Given the description of an element on the screen output the (x, y) to click on. 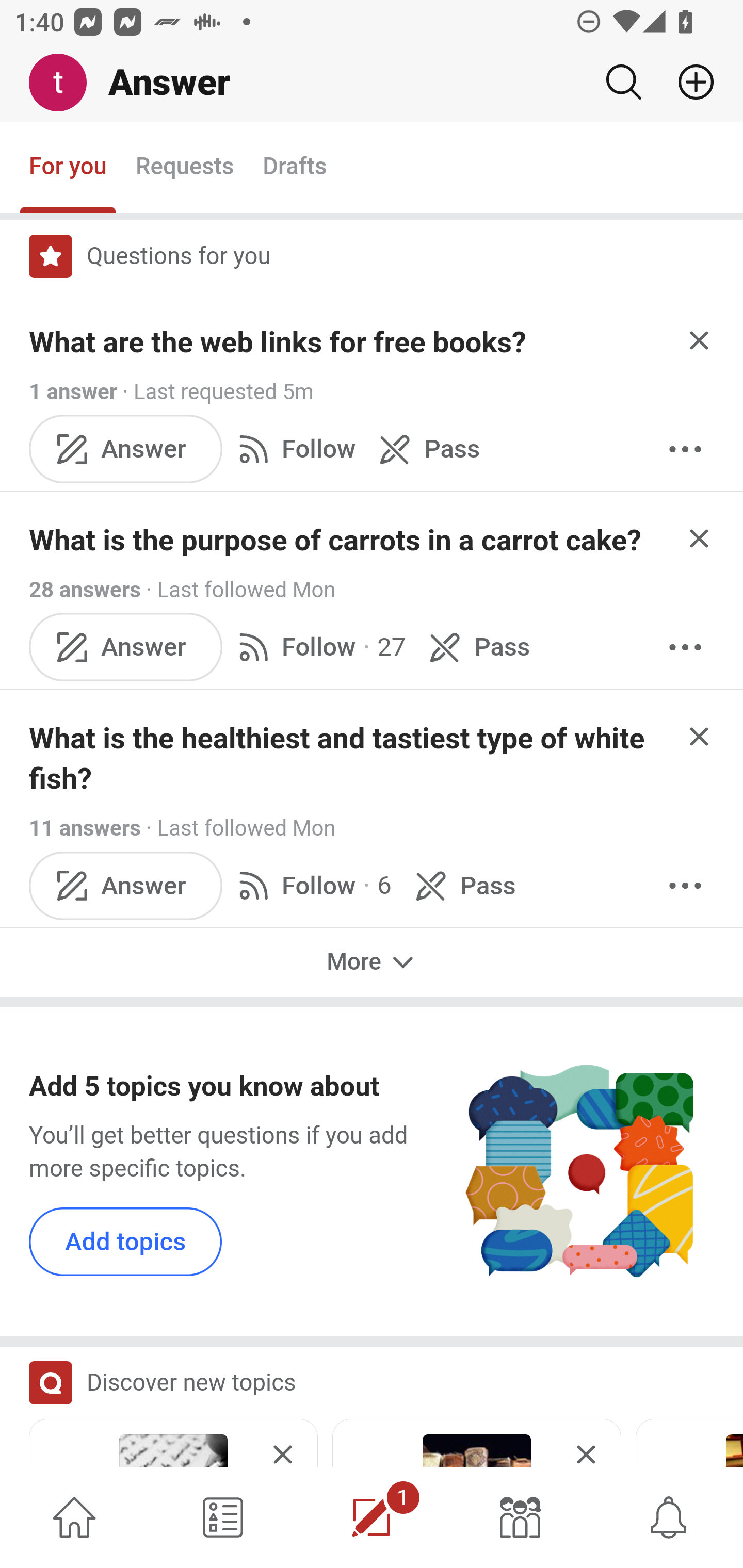
Me (64, 83)
Search (623, 82)
Add (688, 82)
For you (68, 167)
Requests (183, 167)
Drafts (295, 167)
Hide (699, 340)
What are the web links for free books? (277, 342)
1 answer 1  answer (73, 390)
Answer (125, 448)
Follow (293, 448)
Pass (425, 448)
More (684, 448)
Hide (699, 537)
What is the purpose of carrots in a carrot cake? (335, 540)
28 answers 28  answers (84, 590)
Answer (125, 648)
Follow · 27 (317, 648)
Pass (476, 648)
More (684, 648)
Hide (699, 735)
11 answers 11  answers (84, 828)
Answer (125, 886)
Follow · 6 (311, 886)
Pass (461, 886)
More (684, 886)
More (371, 961)
Add topics (125, 1240)
Hide this card (282, 1444)
Hide this card (585, 1444)
